Given the description of an element on the screen output the (x, y) to click on. 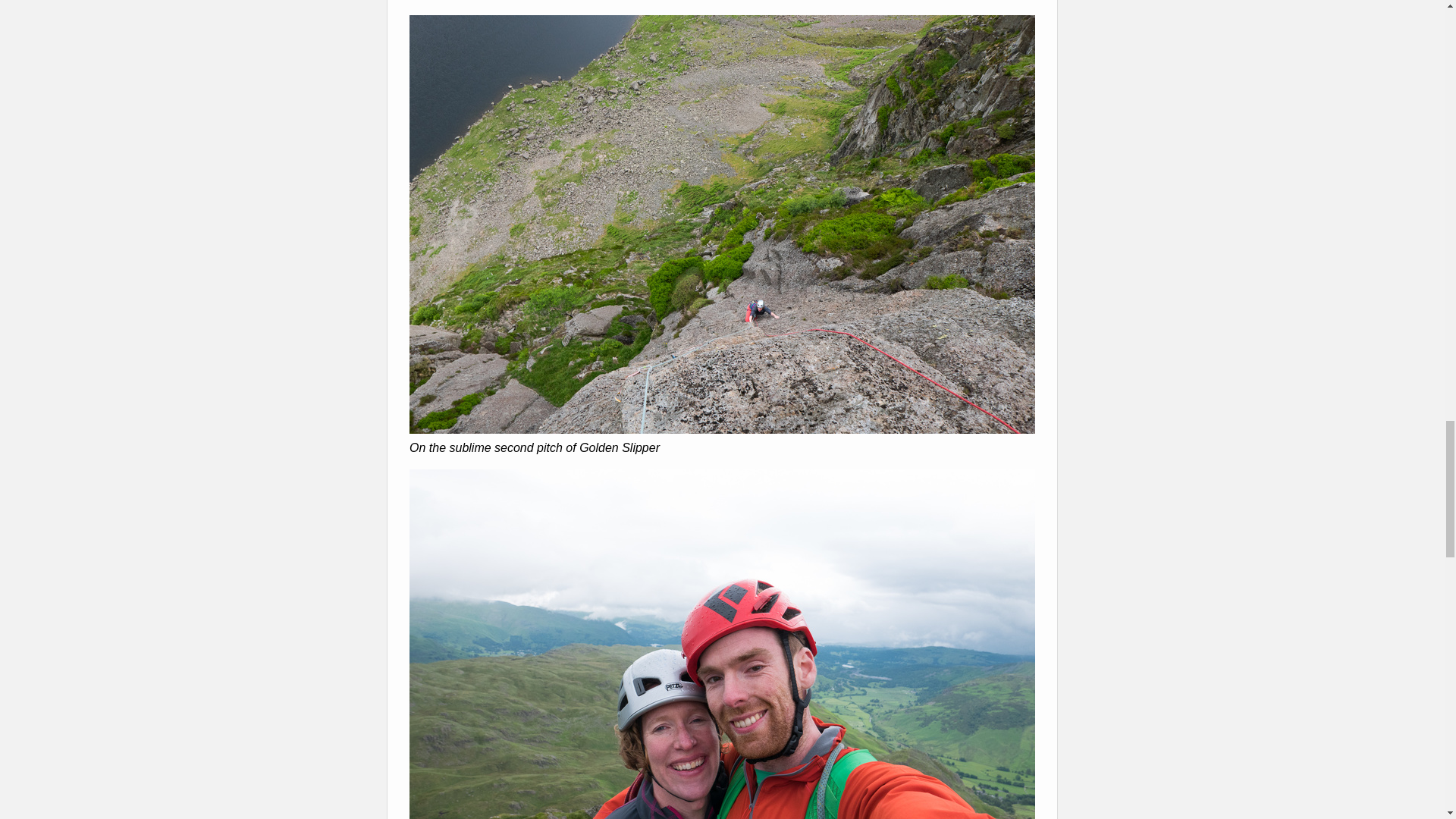
On the sublime second pitch of Golden Slipper (722, 429)
